Given the description of an element on the screen output the (x, y) to click on. 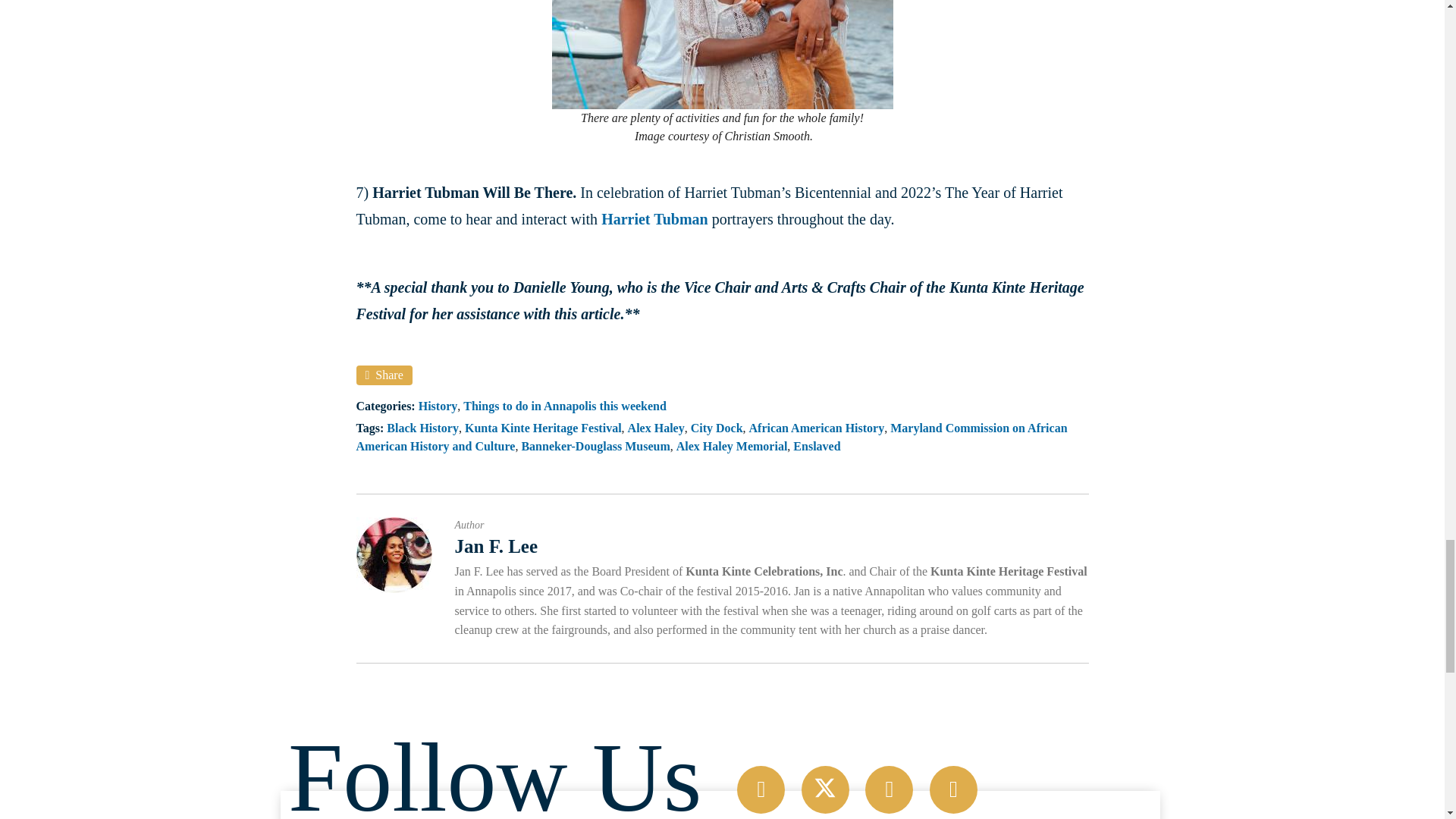
Visit our twitter page (825, 789)
Visit our youtube page (953, 789)
Harriet Tubman (654, 218)
Share (384, 374)
Visit our facebook page (760, 789)
Visit our instagram page (888, 789)
